Given the description of an element on the screen output the (x, y) to click on. 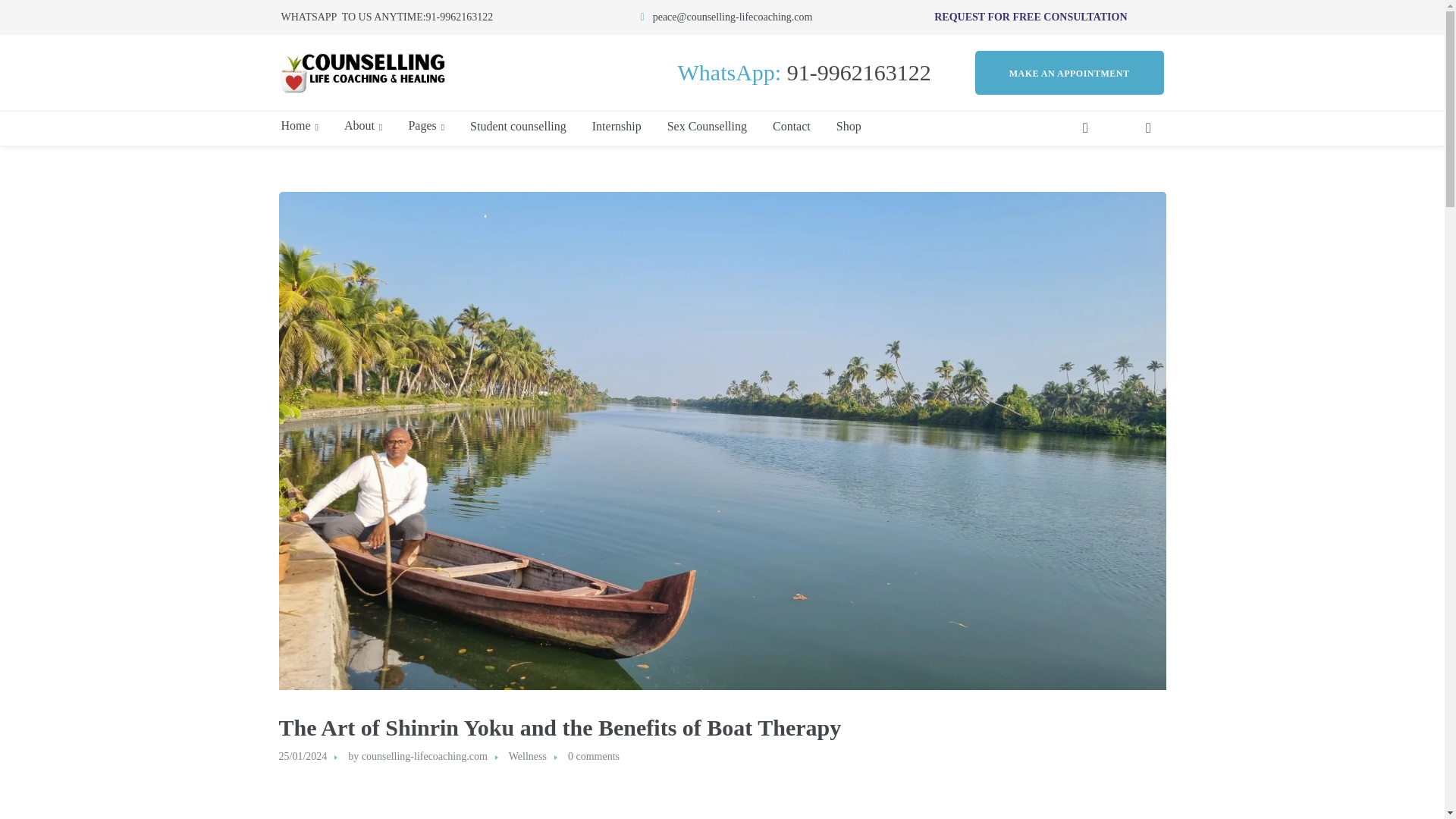
Internship (616, 126)
Shop (848, 126)
About (362, 125)
Contact (790, 126)
BOAT THERAPY - PSYCHOLOGY MAESTRO SERIES (722, 798)
Search (1093, 173)
Home (298, 125)
View your shopping cart (1147, 128)
Student counselling (518, 126)
Sex Counselling (706, 126)
Pages (425, 125)
MAKE AN APPOINTMENT (1069, 72)
